Given the description of an element on the screen output the (x, y) to click on. 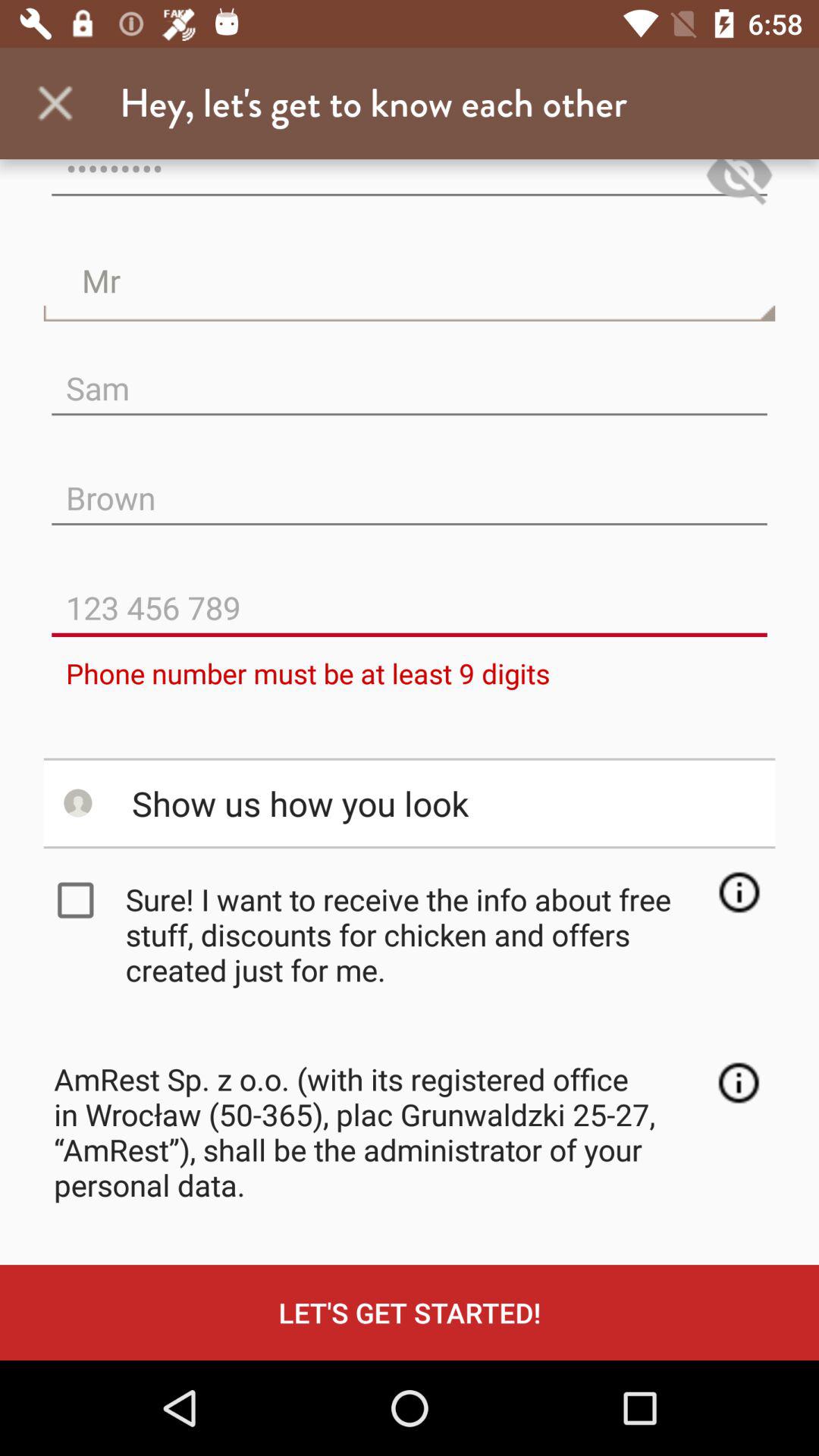
launch item above the crowd3116 (55, 103)
